Given the description of an element on the screen output the (x, y) to click on. 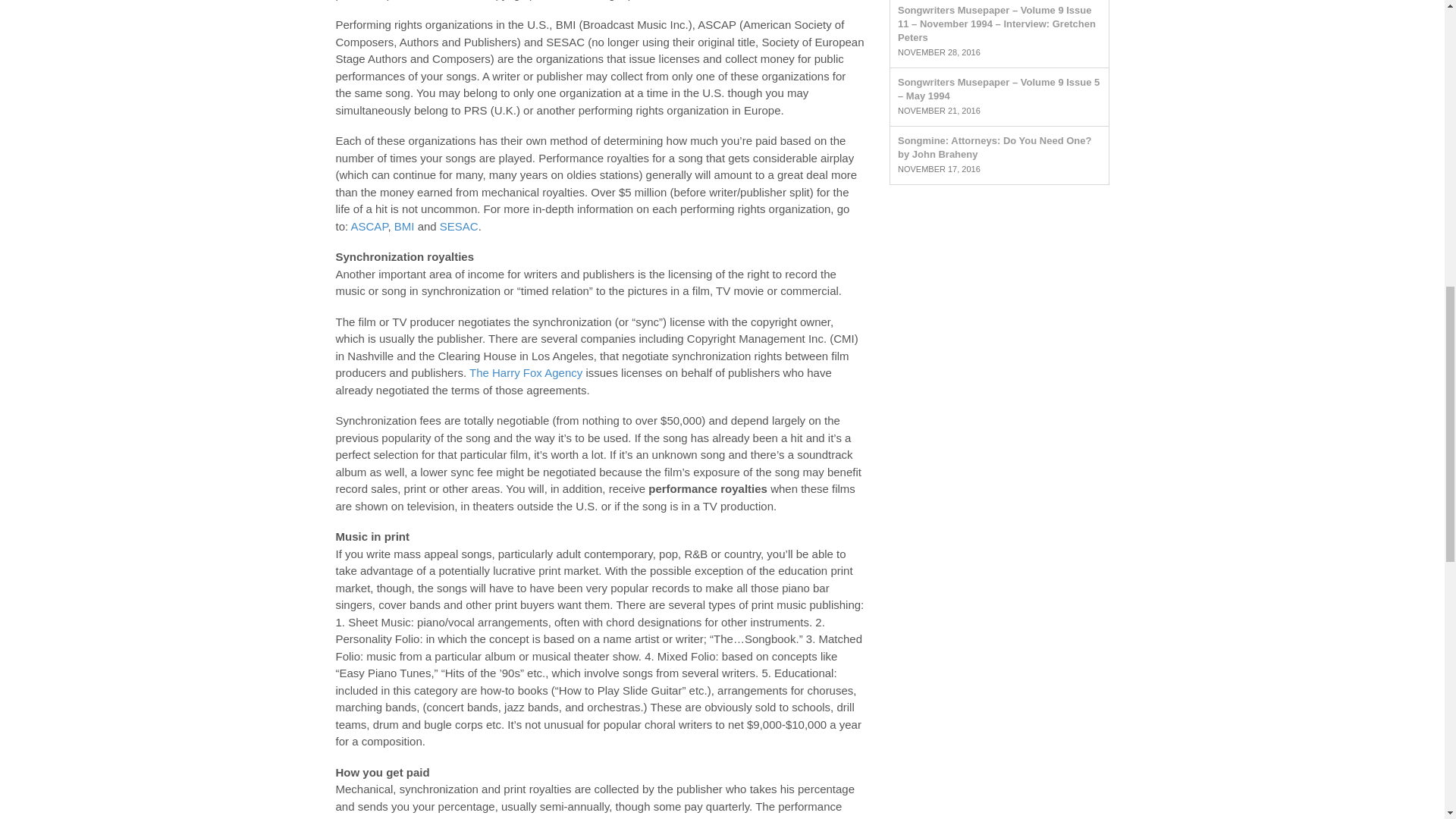
BMI (404, 226)
ASCAP (369, 226)
SESAC (459, 226)
The Harry Fox Agency (525, 372)
Songmine: Attorneys: Do You Need One? by John Braheny (994, 147)
